Given the description of an element on the screen output the (x, y) to click on. 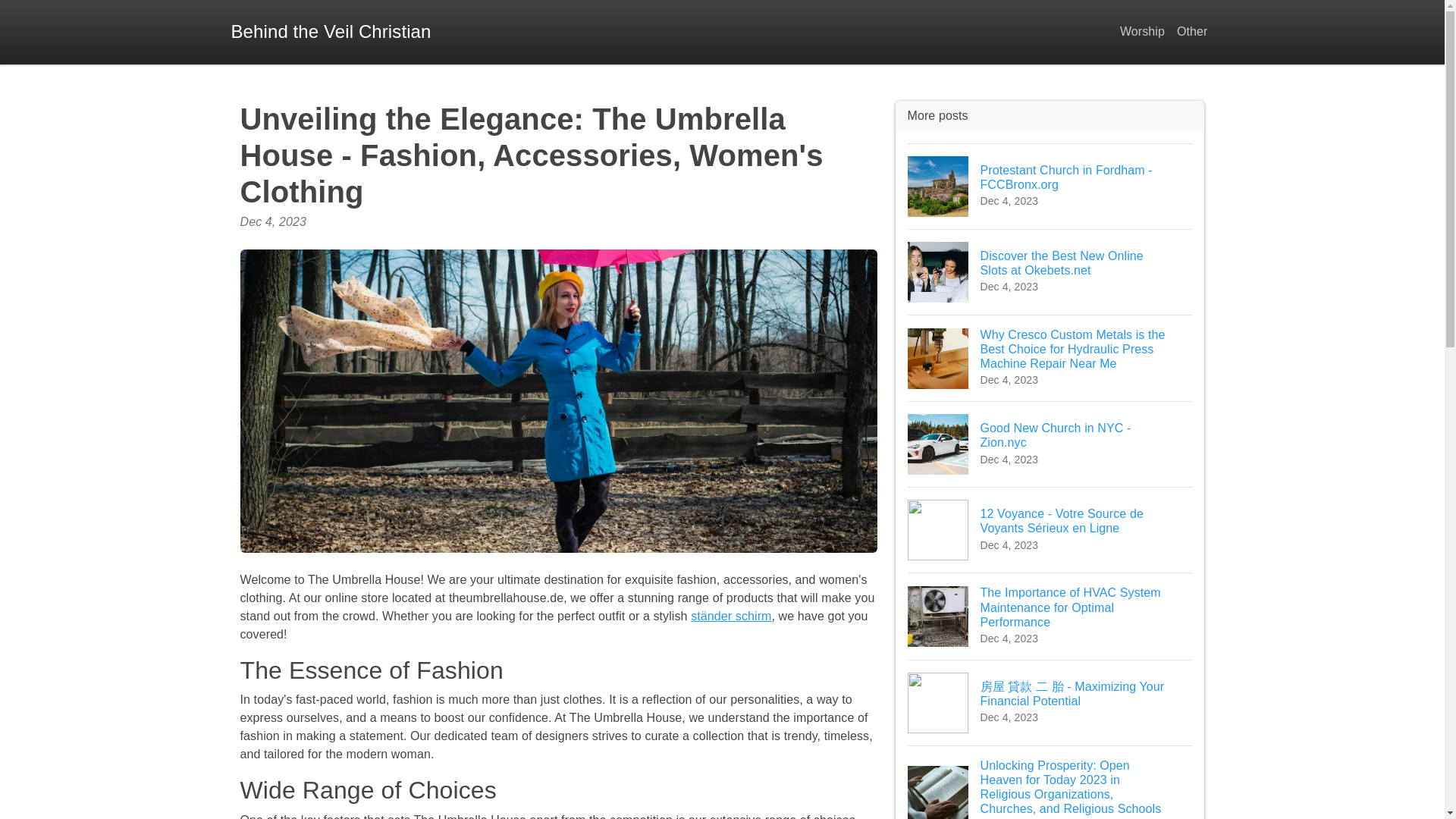
Worship (1141, 32)
Other (1192, 32)
Behind the Veil Christian (1049, 443)
